Given the description of an element on the screen output the (x, y) to click on. 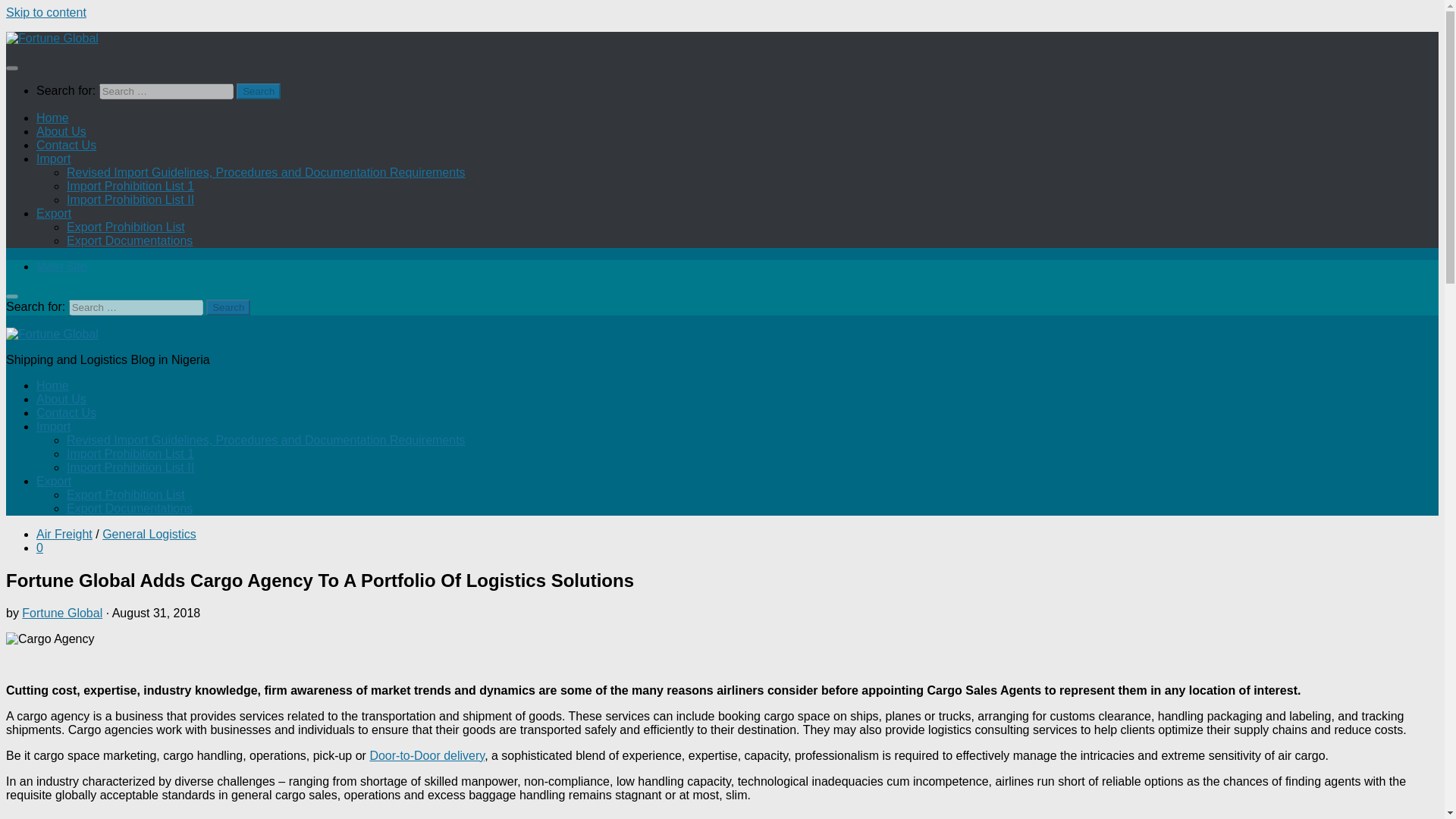
About Us (60, 131)
Search (228, 307)
Import (52, 158)
Home (52, 385)
Export Documentations (129, 240)
Search (258, 91)
Menu (11, 68)
Skip to content (45, 11)
Air Freight (64, 533)
Import Prohibition List II (129, 199)
Export Prohibition List (125, 226)
Export (53, 481)
Home (52, 117)
Import Prohibition List 1 (129, 185)
